Given the description of an element on the screen output the (x, y) to click on. 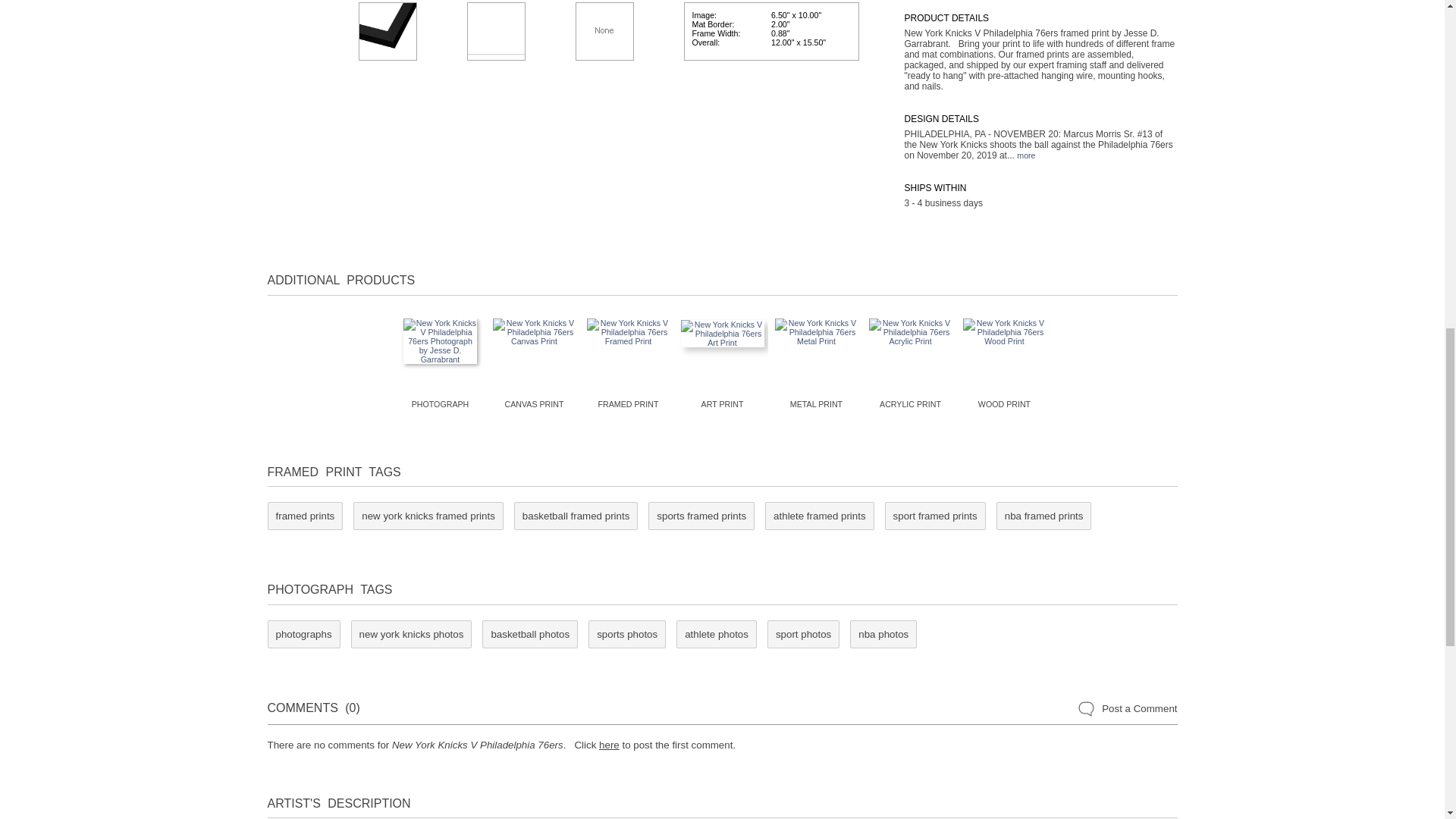
Bottom Mat (604, 31)
Top Mat (496, 31)
Selected Frame (387, 31)
